Given the description of an element on the screen output the (x, y) to click on. 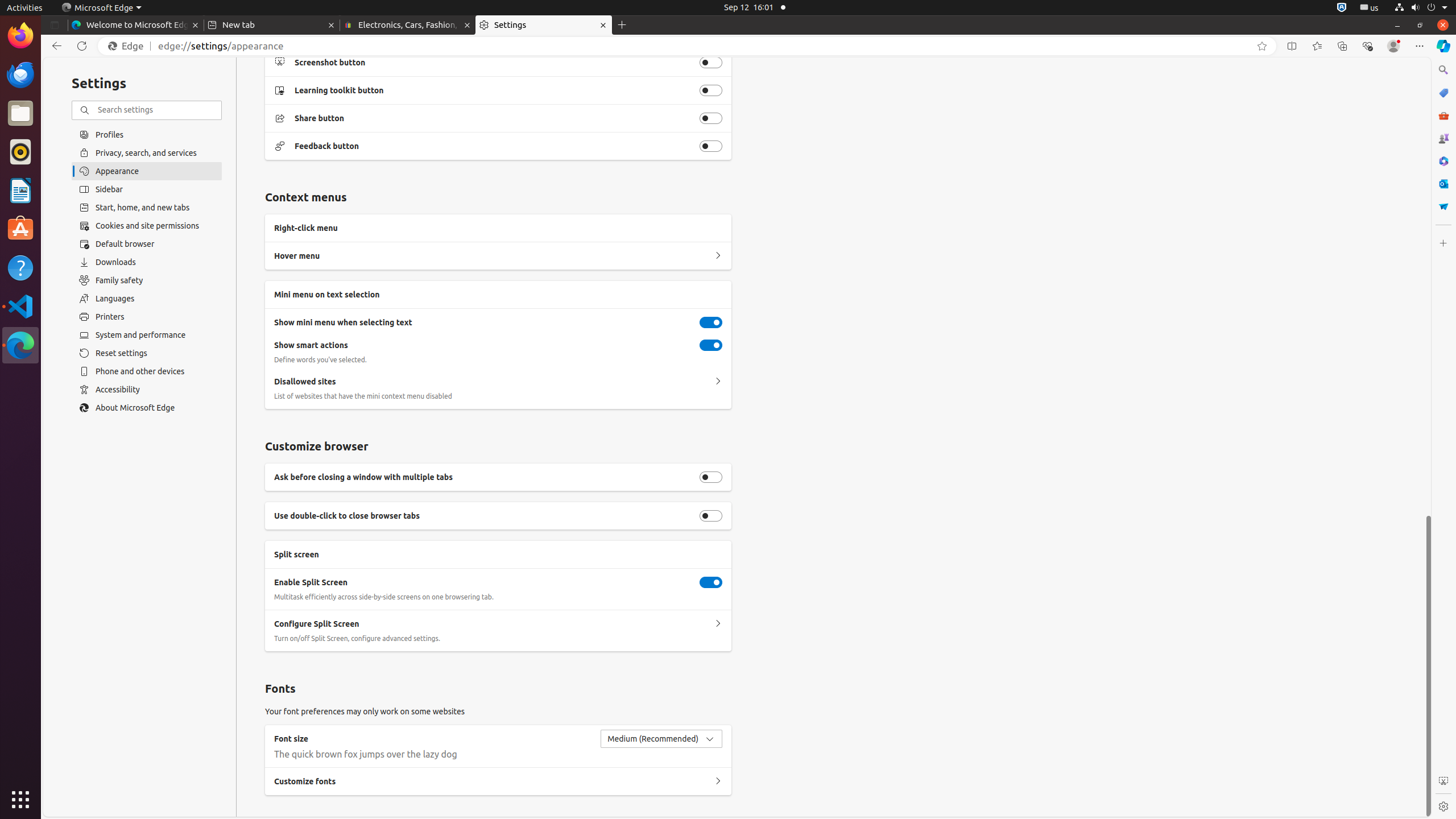
Firefox Web Browser Element type: push-button (20, 35)
Font size Medium (Recommended) Element type: push-button (661, 738)
About Microsoft Edge Element type: tree-item (146, 407)
New tab Element type: page-tab (271, 25)
Split screen Element type: push-button (1291, 45)
